Given the description of an element on the screen output the (x, y) to click on. 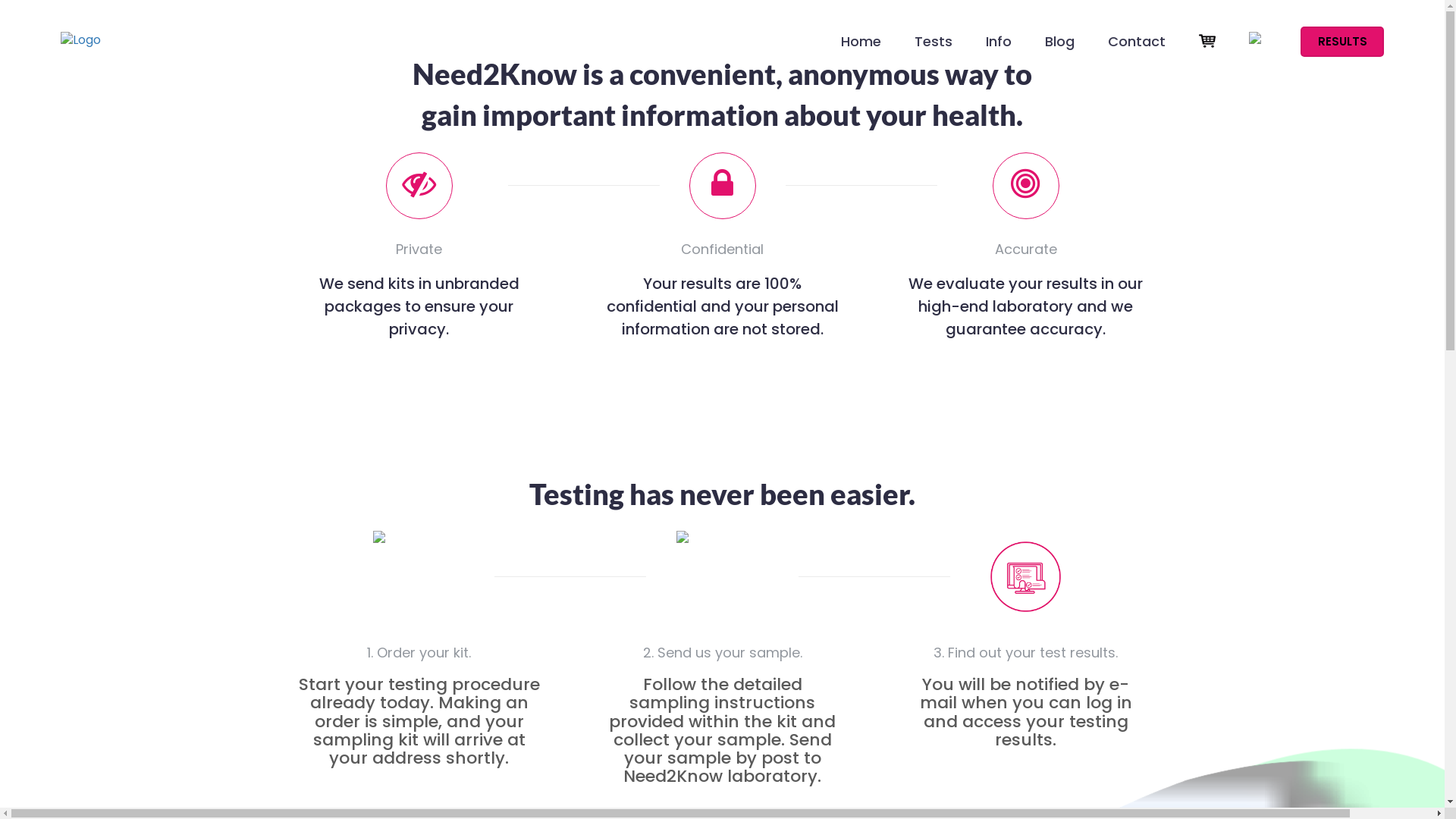
RESULTS Element type: text (1341, 41)
Info Element type: text (998, 48)
Blog Element type: text (1059, 48)
We send kits in unbranded packages to ensure your privacy. Element type: text (418, 306)
Contact Element type: text (1136, 48)
Tests Element type: text (933, 48)
Home Element type: text (860, 48)
